Given the description of an element on the screen output the (x, y) to click on. 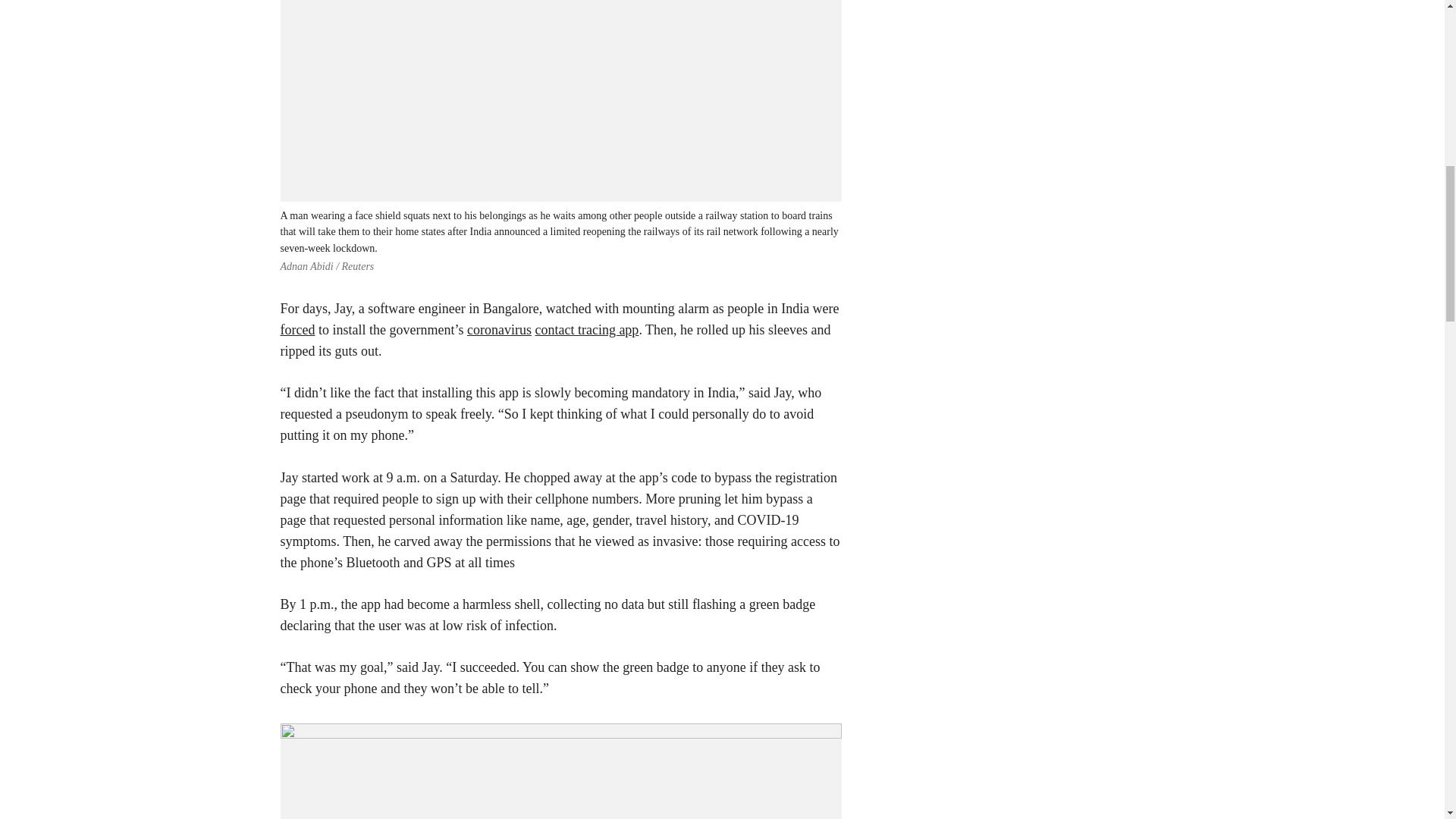
contact tracing app (586, 329)
forced (298, 329)
coronavirus (499, 329)
